Given the description of an element on the screen output the (x, y) to click on. 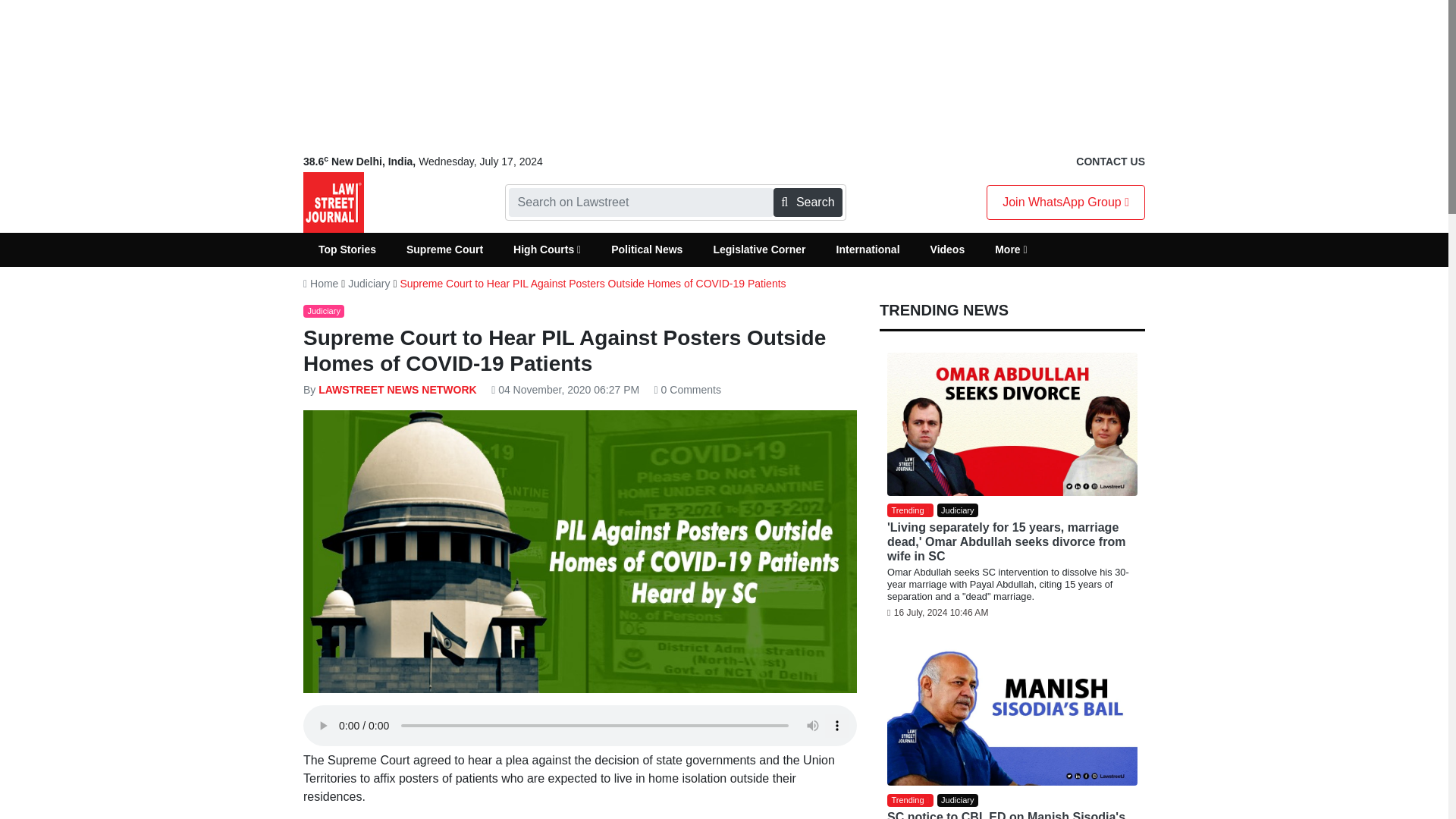
Videos (947, 249)
Search (807, 202)
Political News (646, 249)
Top Stories (346, 249)
High Courts (546, 249)
Join WhatsApp Group (1065, 202)
Legislative Corner (759, 249)
CONTACT US (1109, 161)
International (868, 249)
More (1010, 249)
Supreme Court (444, 249)
LawStreet Journal (333, 201)
